Given the description of an element on the screen output the (x, y) to click on. 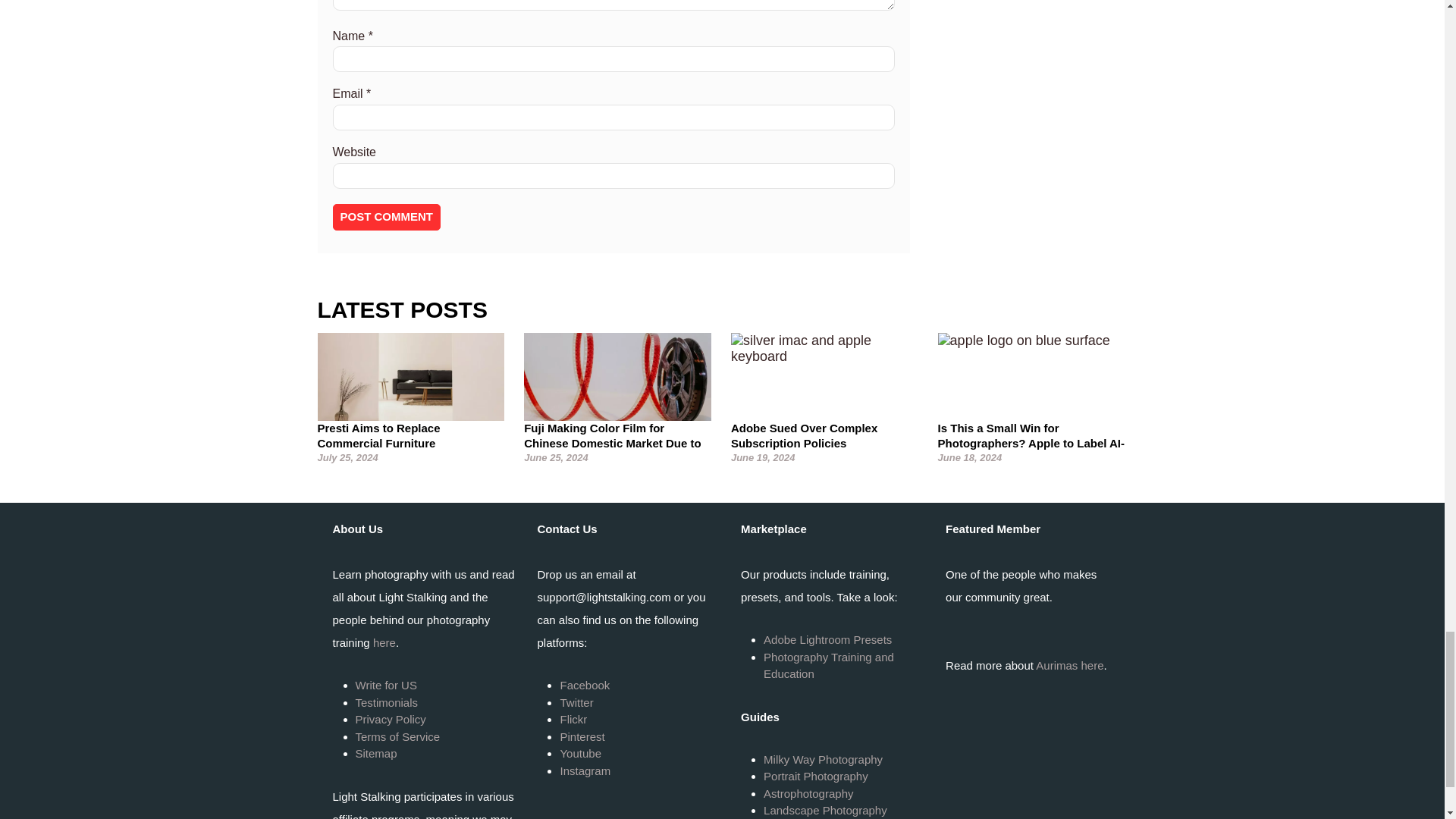
Post Comment (386, 216)
